Given the description of an element on the screen output the (x, y) to click on. 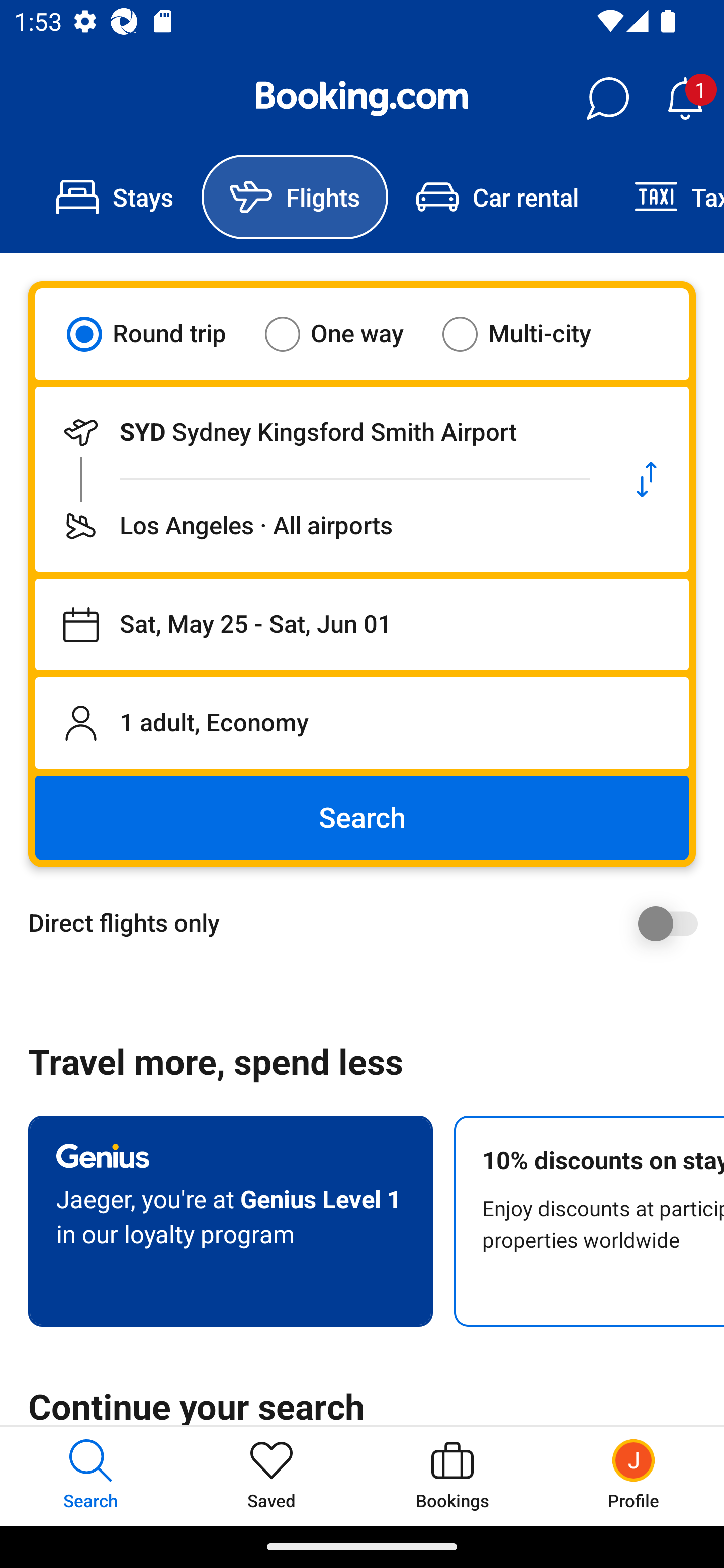
Messages (607, 98)
Notifications (685, 98)
Stays (114, 197)
Flights (294, 197)
Car rental (497, 197)
Taxi (665, 197)
One way (346, 333)
Multi-city (528, 333)
Departing from SYD Sydney Kingsford Smith Airport (319, 432)
Swap departure location and destination (646, 479)
Flying to Los Angeles · All airports (319, 525)
Departing on Sat, May 25, returning on Sat, Jun 01 (361, 624)
1 adult, Economy (361, 722)
Search (361, 818)
Direct flights only (369, 923)
Saved (271, 1475)
Bookings (452, 1475)
Profile (633, 1475)
